Given the description of an element on the screen output the (x, y) to click on. 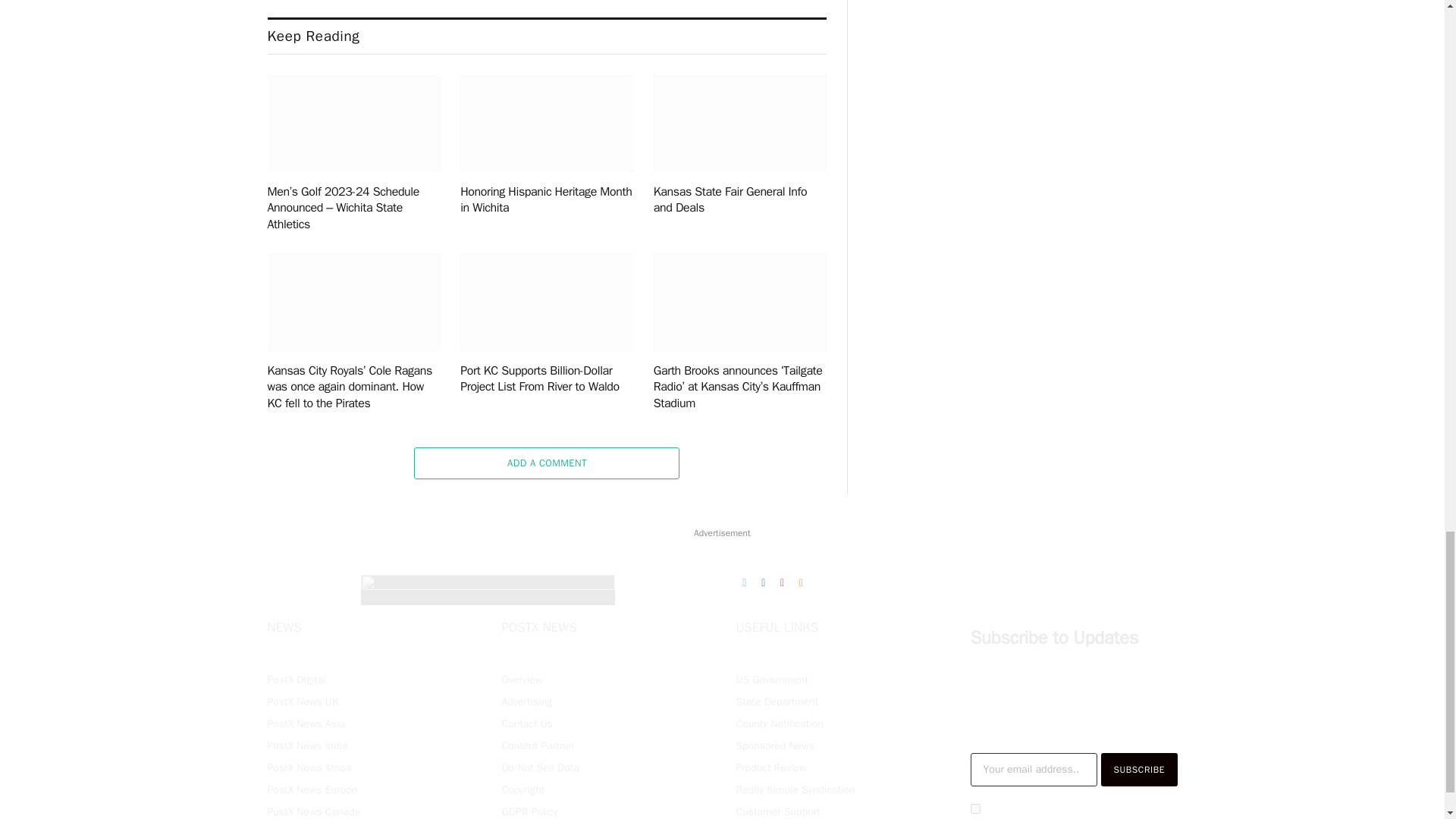
on (975, 808)
Subscribe (1138, 769)
